Given the description of an element on the screen output the (x, y) to click on. 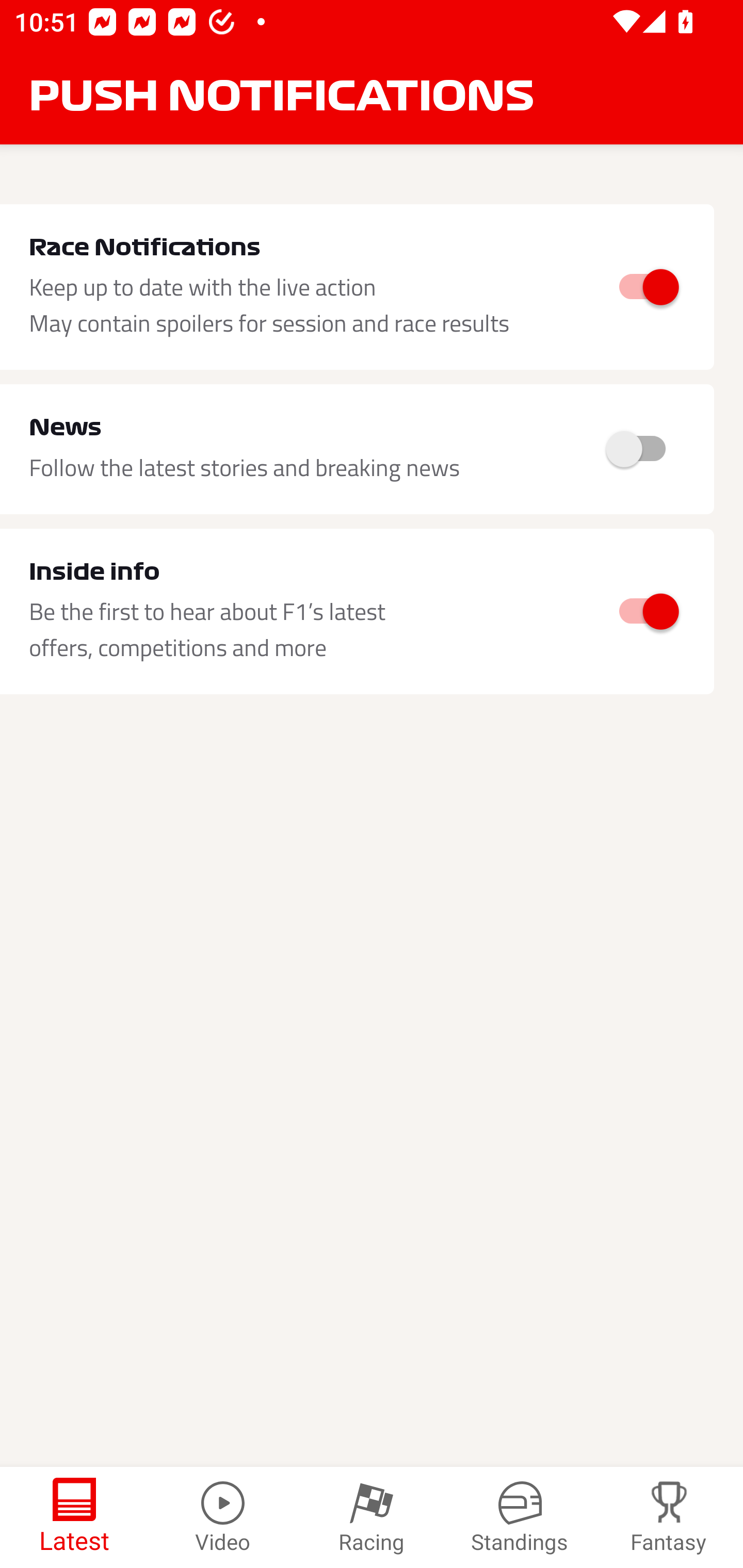
Video (222, 1517)
Racing (371, 1517)
Standings (519, 1517)
Fantasy (668, 1517)
